Given the description of an element on the screen output the (x, y) to click on. 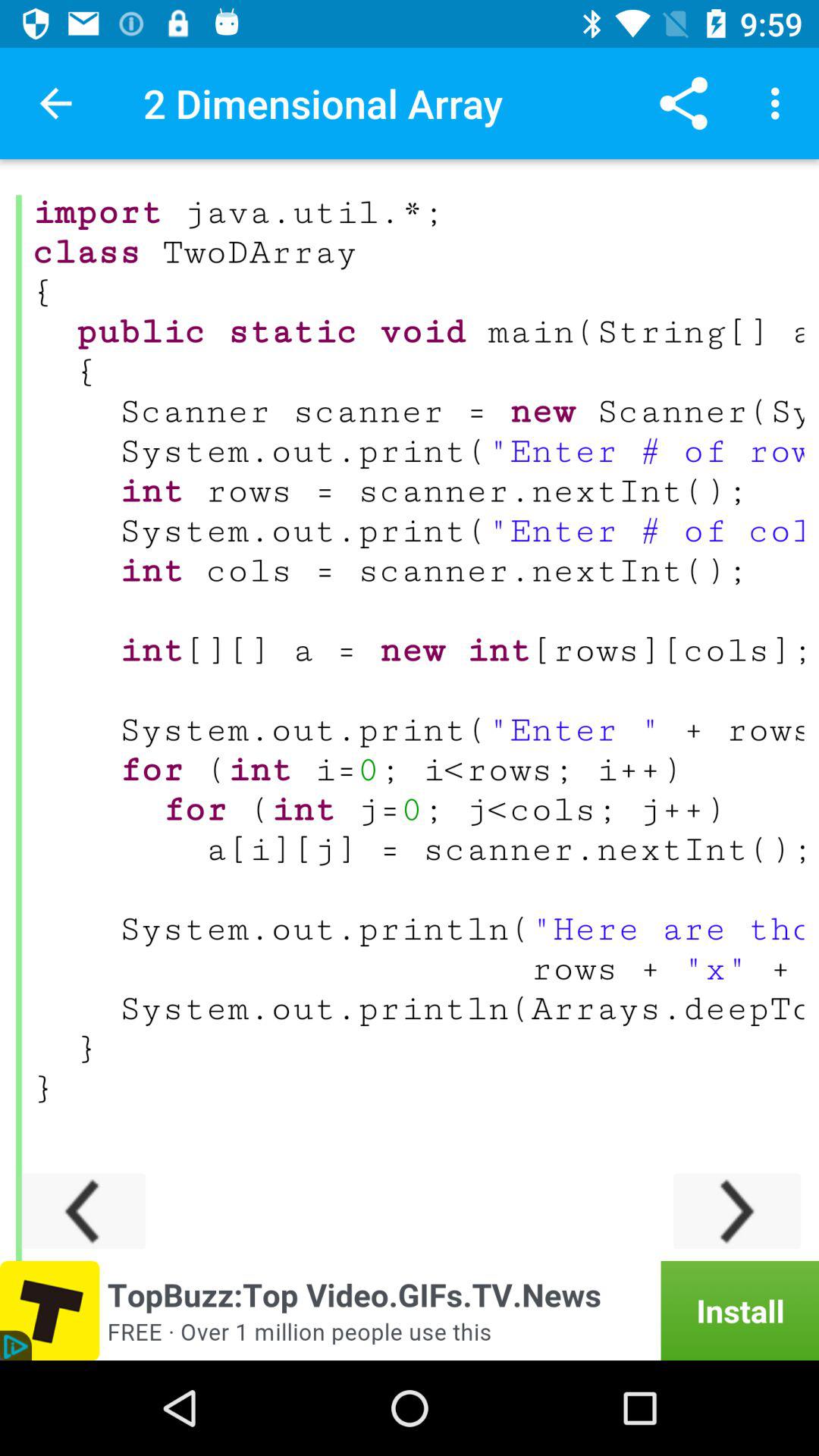
next (736, 1210)
